Given the description of an element on the screen output the (x, y) to click on. 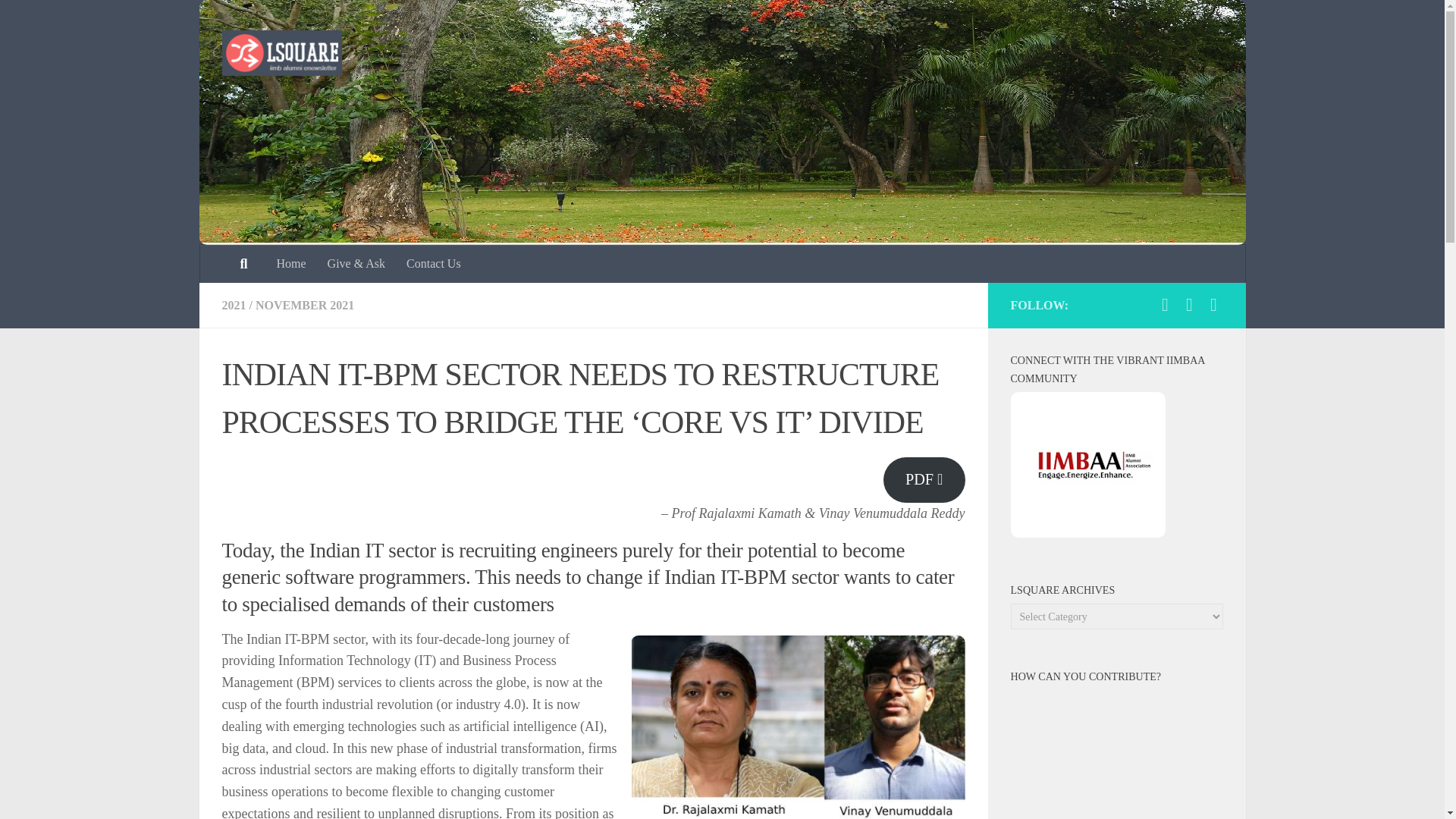
Follow us on Facebook (1164, 304)
Contact Us (433, 263)
NOVEMBER 2021 (304, 305)
Home (289, 263)
2021 (233, 305)
Follow us on Linkedin (1188, 304)
Skip to content (59, 20)
Follow us on Twitter (1213, 304)
